Given the description of an element on the screen output the (x, y) to click on. 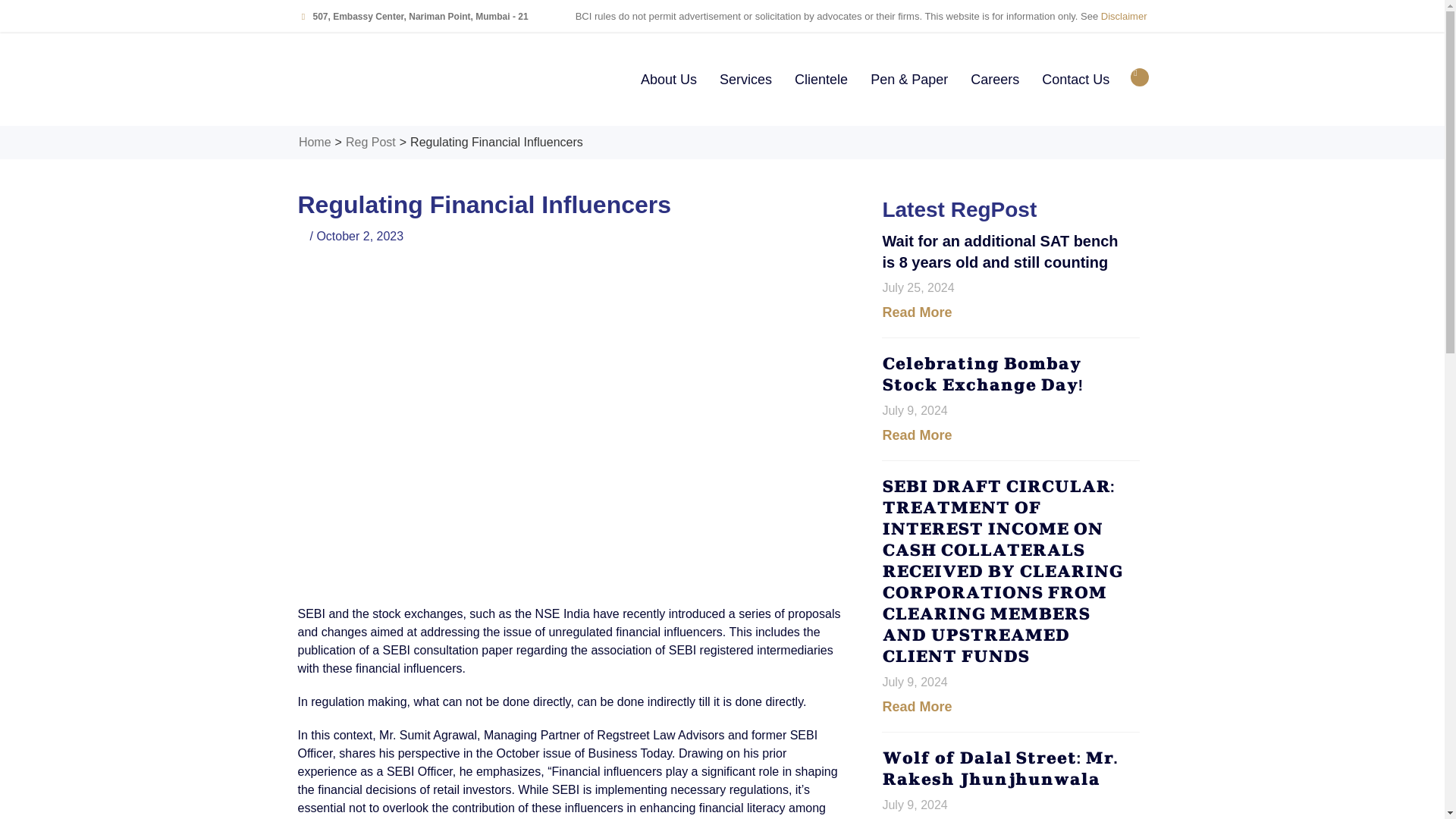
Clientele (821, 79)
Contact Us (1075, 79)
Services (745, 79)
About Us (667, 79)
Careers (994, 79)
Disclaimer (1123, 16)
